Given the description of an element on the screen output the (x, y) to click on. 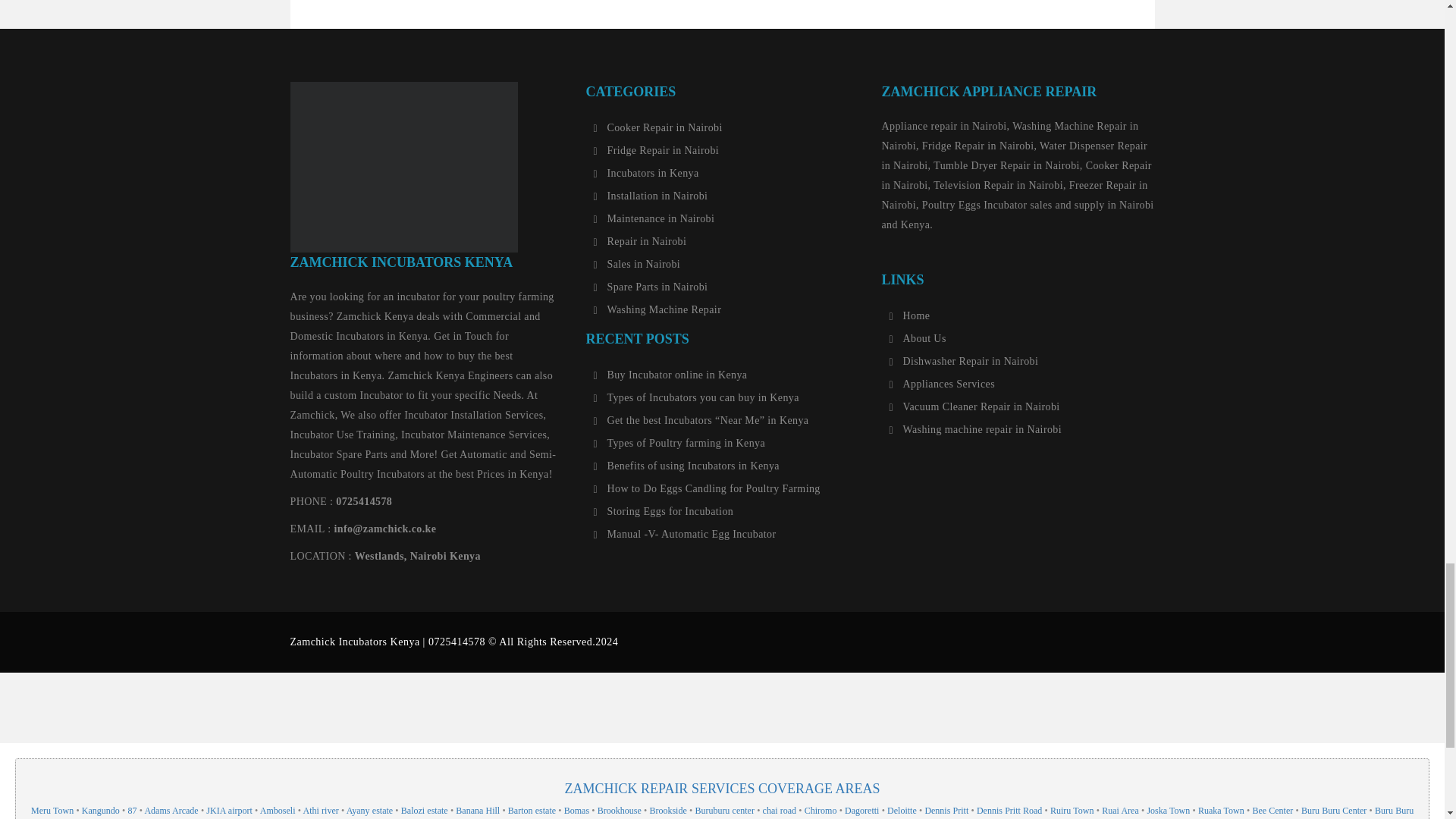
Manual -V- Automatic Egg Incubator (684, 534)
Ayany estate (369, 810)
Installation in Nairobi (649, 196)
Amboseli (277, 810)
Types of Poultry farming in Kenya (678, 443)
Athi river (320, 810)
Storing Eggs for Incubation (662, 511)
Kangundo (100, 810)
How to Do Eggs Candling for Poultry Farming (705, 489)
Spare Parts in Nairobi (649, 287)
Home (909, 315)
Buy Incubator online in Kenya (669, 375)
Maintenance in Nairobi (653, 219)
Fridge Repair in Nairobi (655, 151)
Meru Town (52, 810)
